Given the description of an element on the screen output the (x, y) to click on. 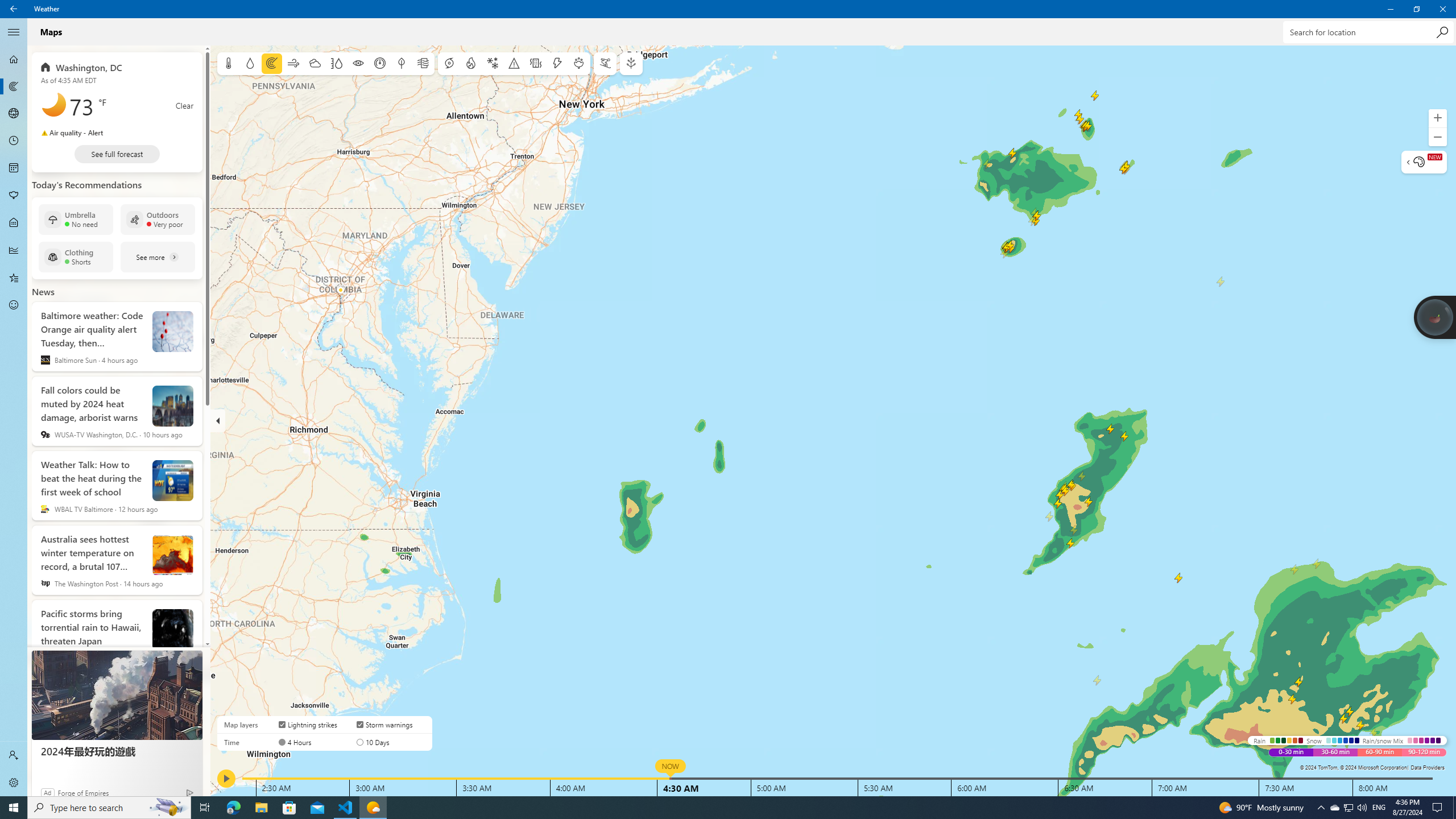
Send Feedback - Not Selected (13, 304)
3D Maps - Not Selected (13, 113)
Monthly Forecast - Not Selected (13, 167)
Forecast - Not Selected (13, 58)
Close Weather (1442, 9)
Sign in (13, 755)
Maps - Not Selected (13, 85)
Send Feedback - Not Selected (13, 304)
